Given the description of an element on the screen output the (x, y) to click on. 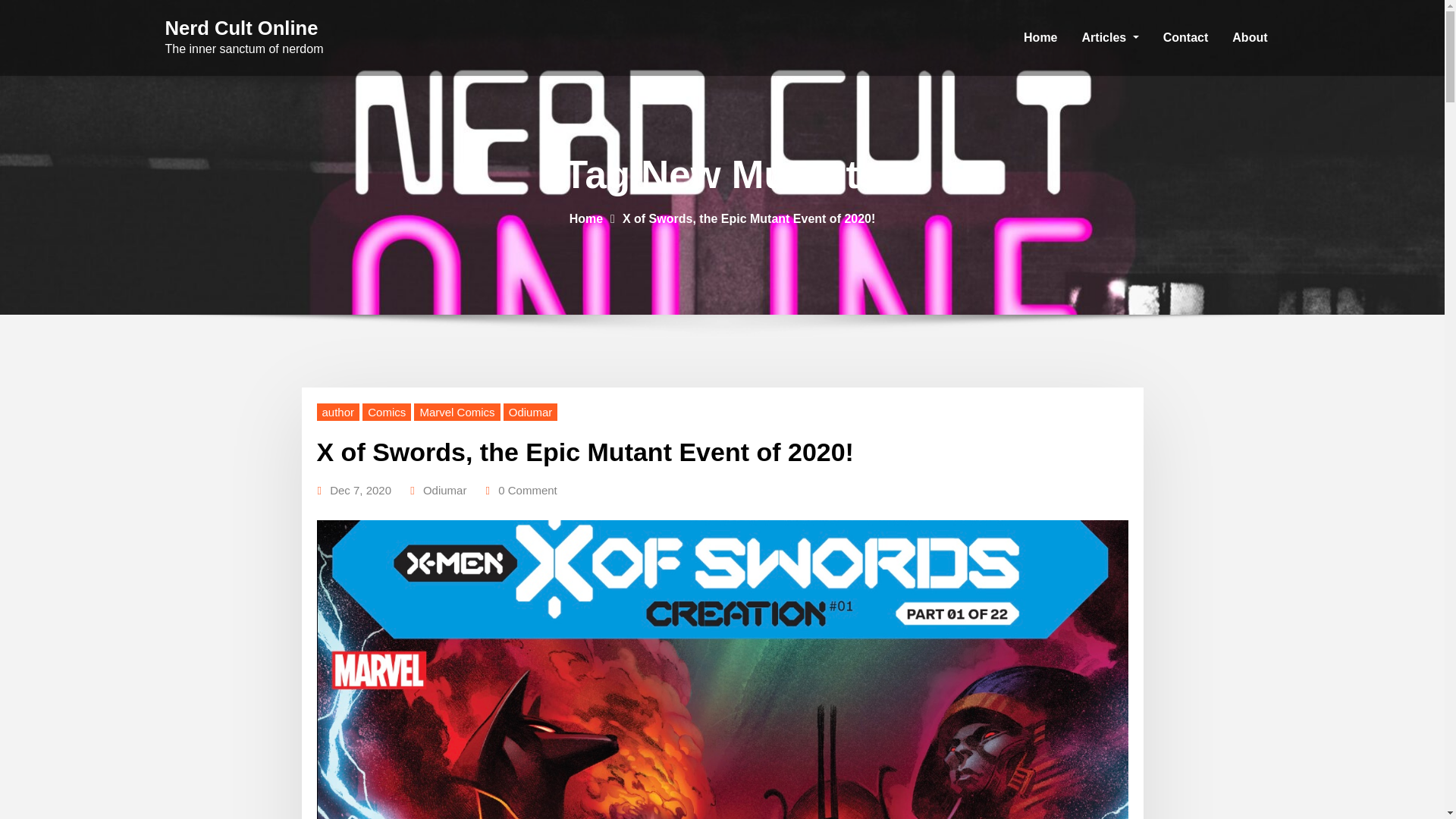
Comics (386, 411)
Odiumar (530, 411)
Home (585, 218)
X of Swords, the Epic Mutant Event of 2020! (585, 451)
author (338, 411)
Nerd Cult Online (241, 27)
0 Comment (527, 490)
Articles (1110, 38)
Marvel Comics (456, 411)
Contact (1186, 38)
X of Swords, the Epic Mutant Event of 2020! (749, 218)
Dec 7, 2020 (360, 490)
Odiumar (445, 490)
